Given the description of an element on the screen output the (x, y) to click on. 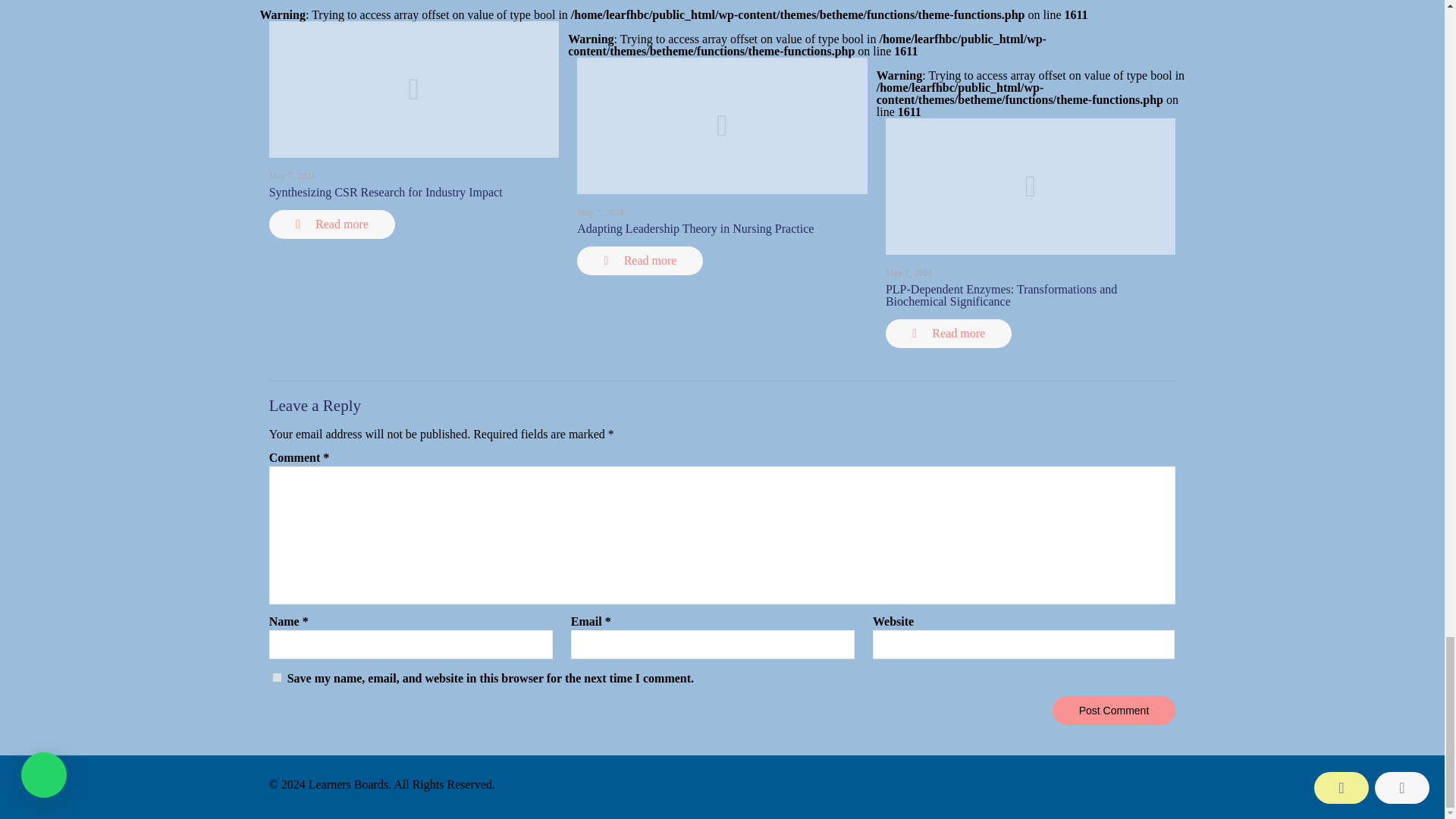
Read more (948, 333)
Post Comment (1114, 710)
Read more (639, 260)
Synthesizing CSR Research for Industry Impact (385, 192)
yes (277, 677)
Read more (331, 224)
Post Comment (1114, 710)
Adapting Leadership Theory in Nursing Practice (694, 228)
